Given the description of an element on the screen output the (x, y) to click on. 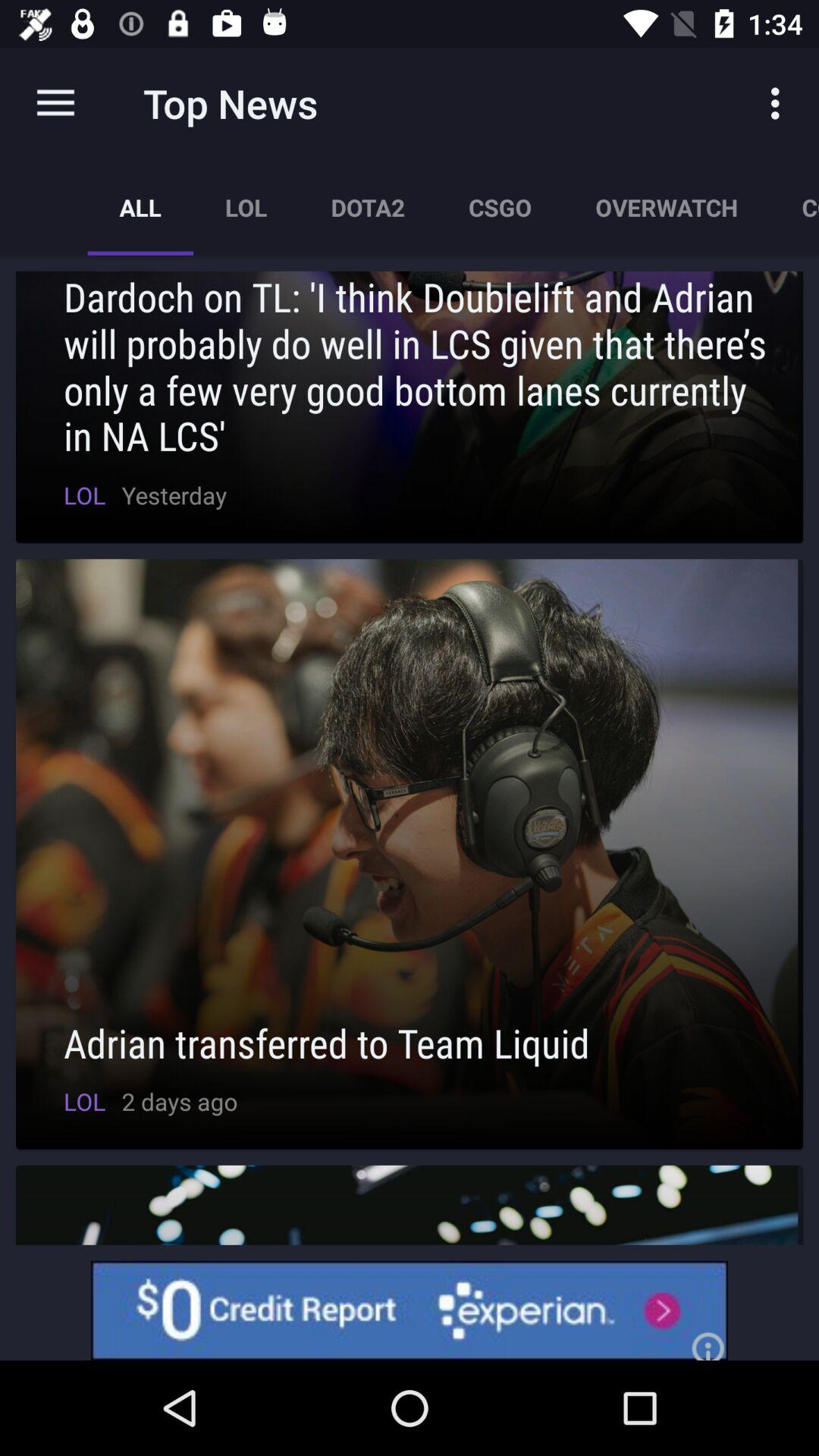
open advertisement (409, 1310)
